Given the description of an element on the screen output the (x, y) to click on. 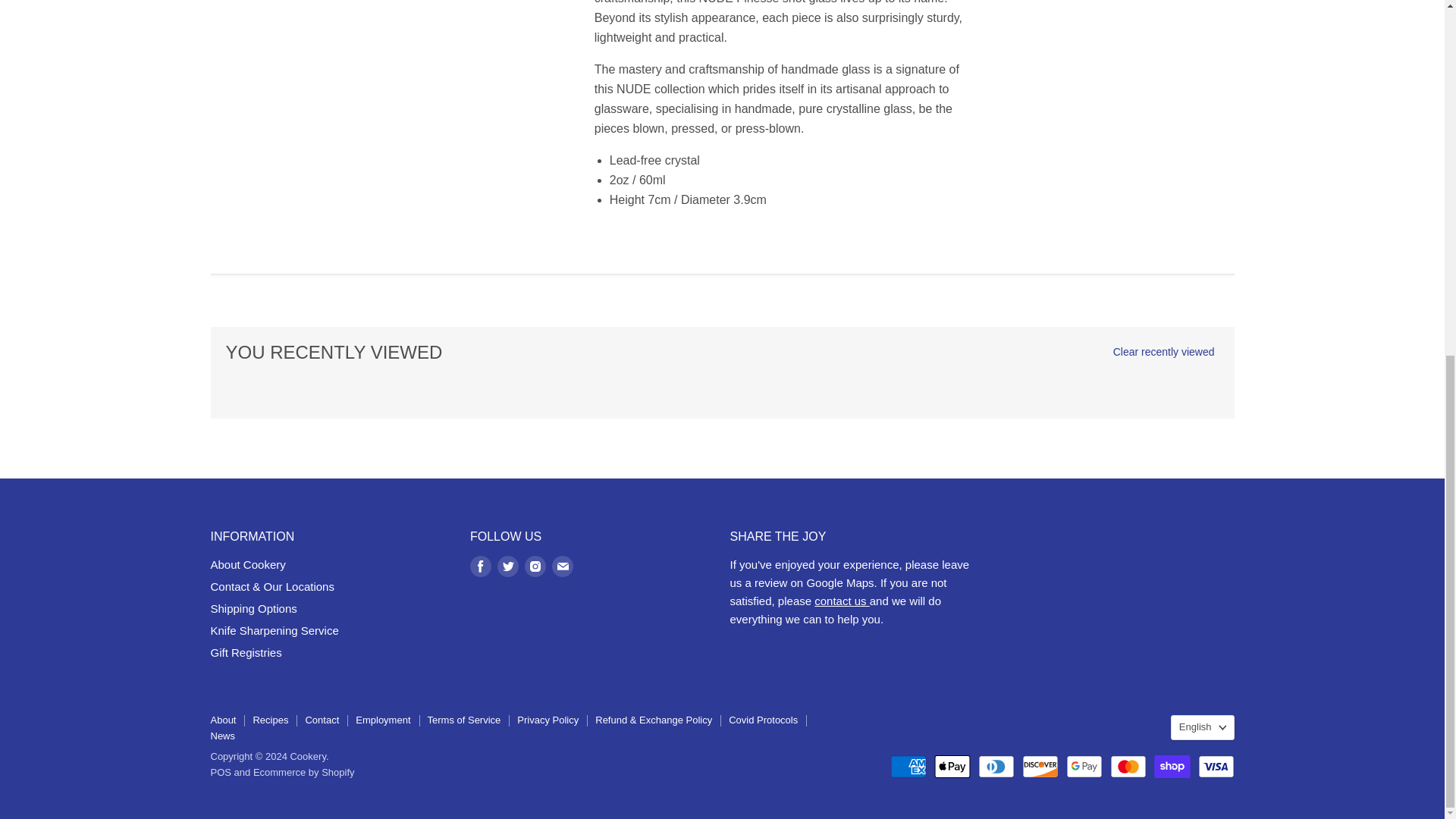
E-mail (562, 566)
American Express (907, 766)
Apple Pay (952, 766)
Instagram (535, 566)
Twitter (507, 566)
Diners Club (996, 766)
Facebook (481, 566)
